Given the description of an element on the screen output the (x, y) to click on. 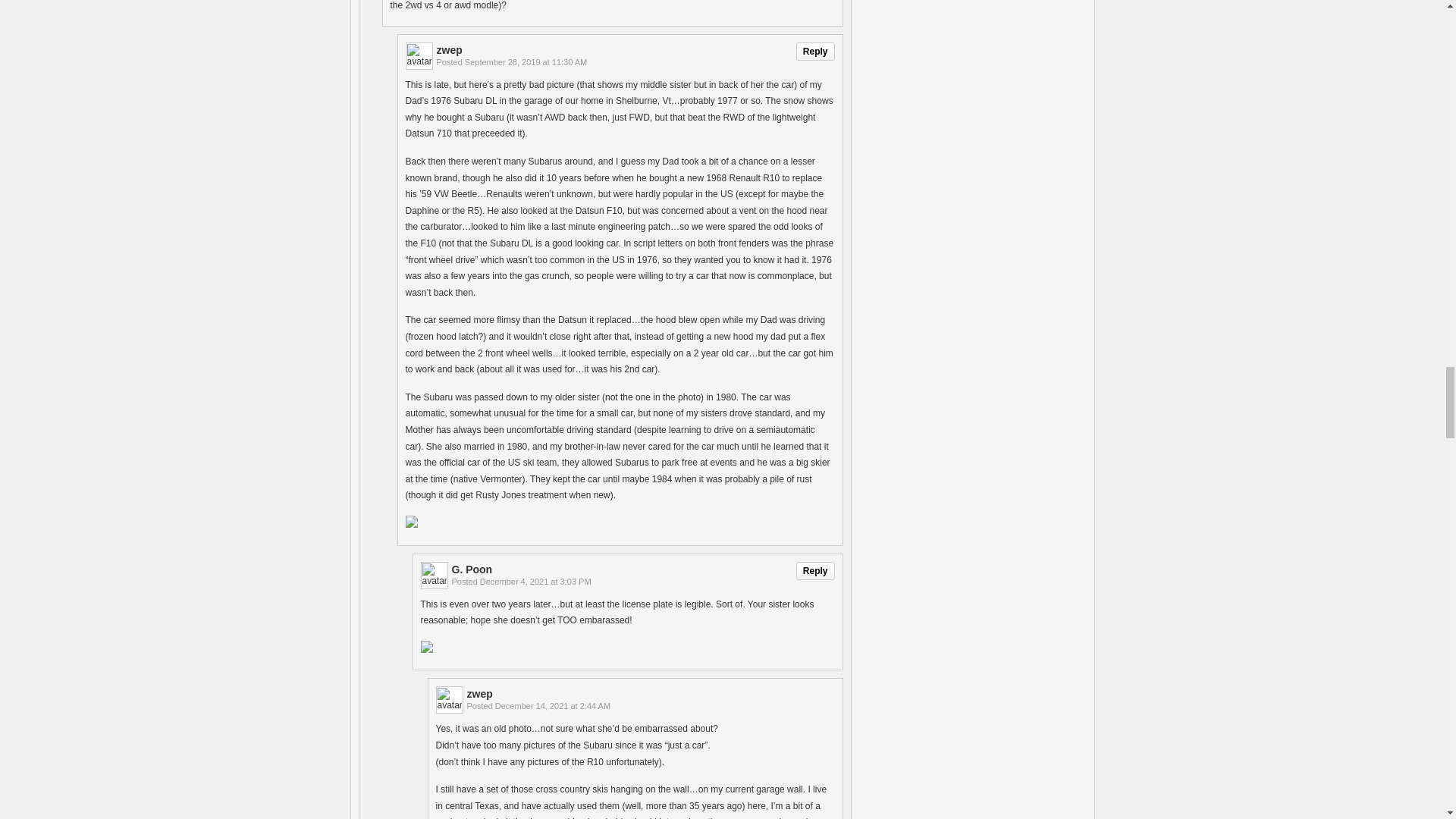
2021-12-14T02:44:57-08:00 (552, 705)
2019-09-28T11:30:19-07:00 (525, 61)
2021-12-04T15:03:03-08:00 (535, 581)
